Given the description of an element on the screen output the (x, y) to click on. 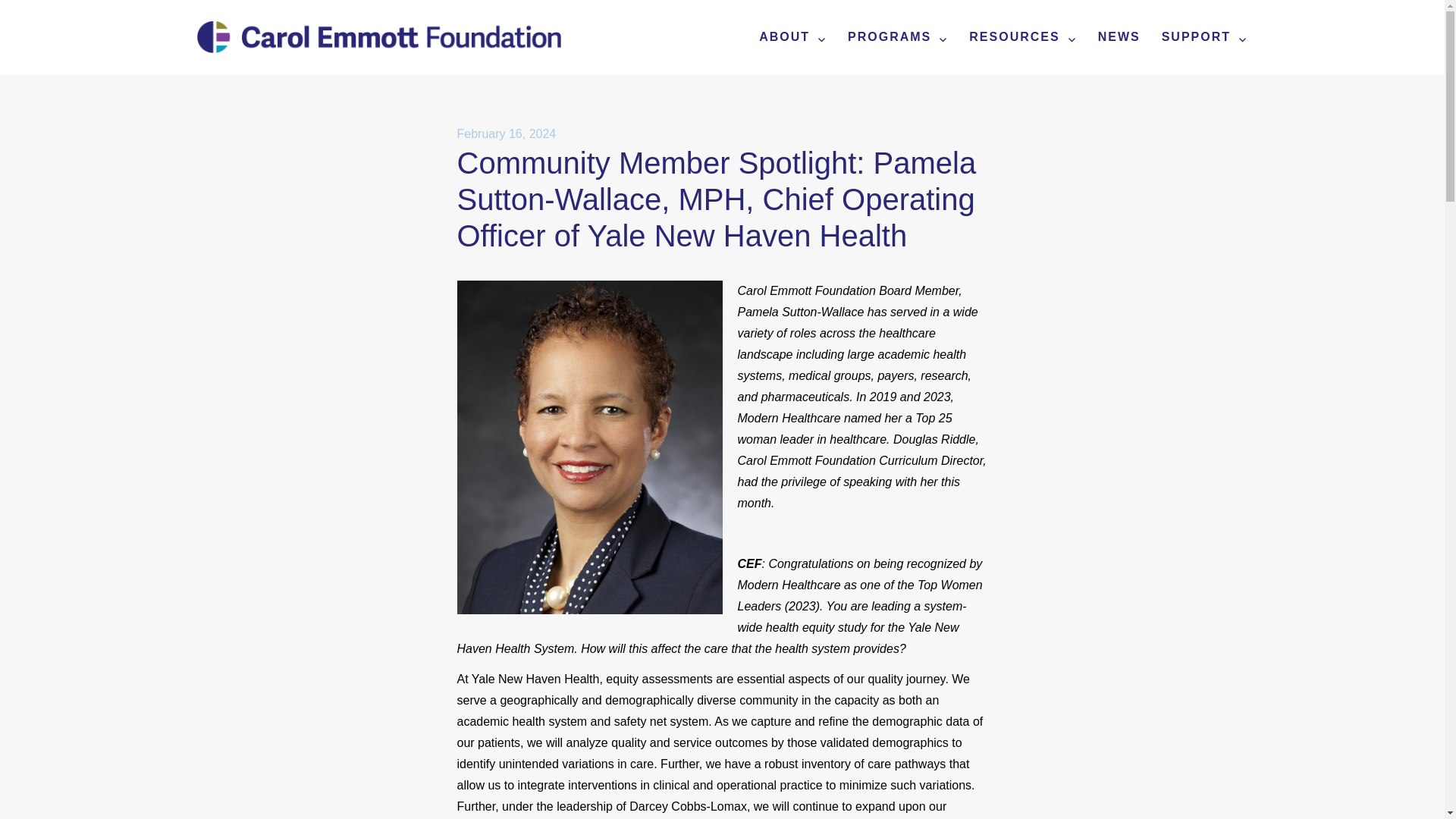
RESOURCES (1022, 37)
SUPPORT (1204, 37)
NEWS (1119, 37)
PROGRAMS (897, 37)
ABOUT (792, 37)
Carol Emmott Foundation (327, 76)
